Given the description of an element on the screen output the (x, y) to click on. 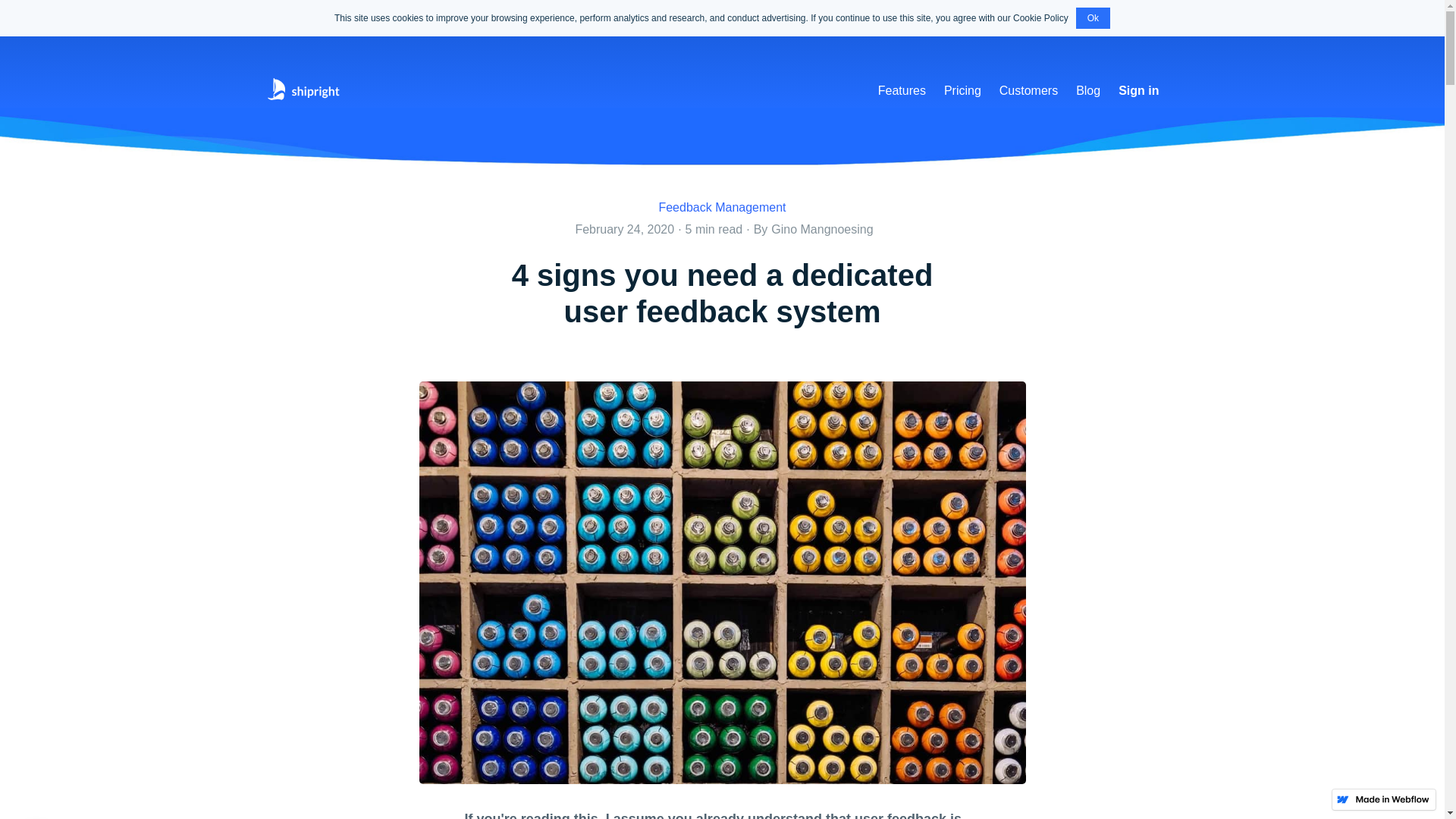
Subscribe Now (485, 18)
Blog (1088, 90)
Sign in (1138, 90)
Pricing (962, 90)
Customers (1028, 90)
Features (901, 90)
Feedback Management (722, 208)
